Given the description of an element on the screen output the (x, y) to click on. 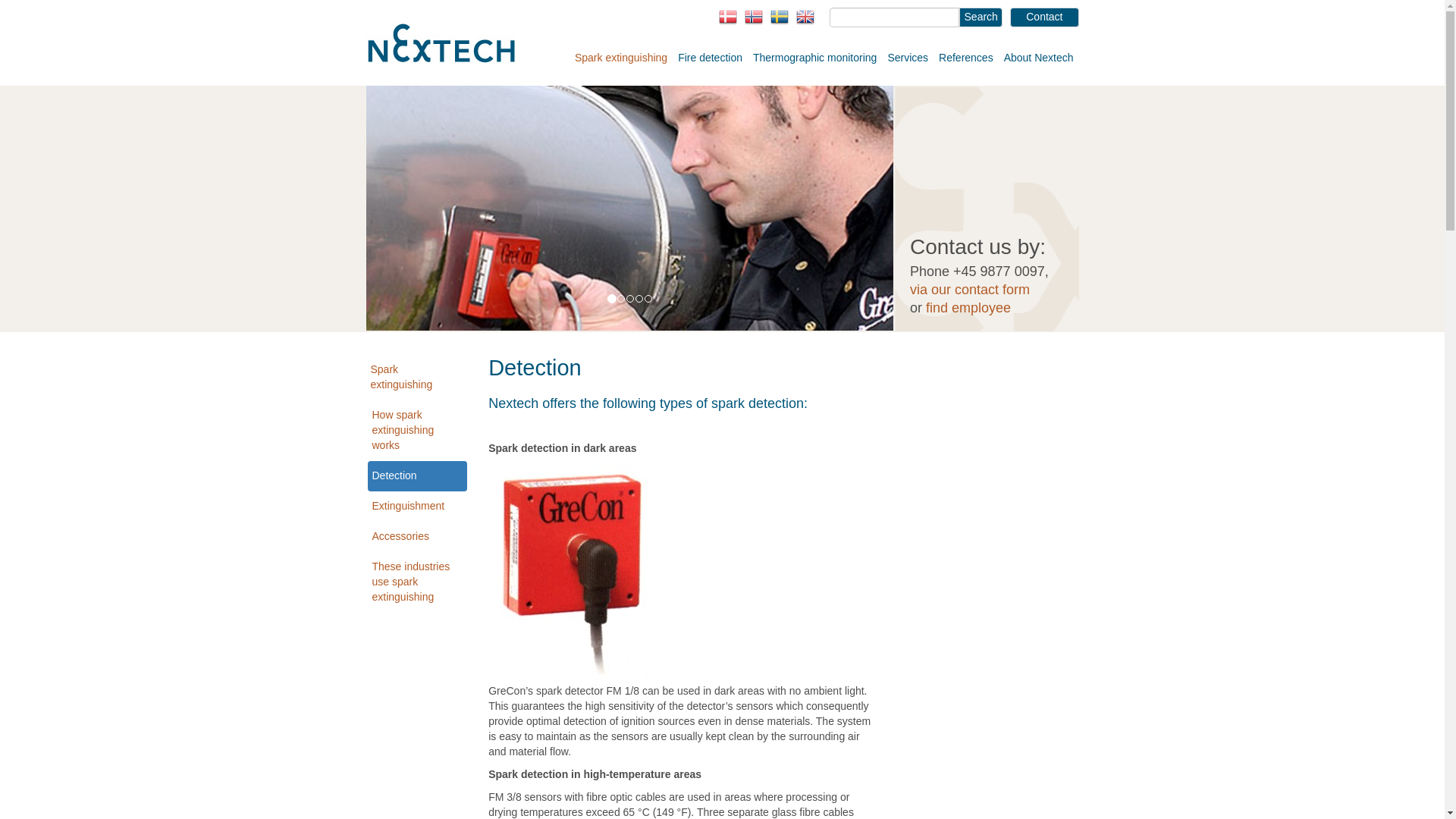
Services (907, 55)
Thermographic monitoring (815, 55)
References (965, 55)
References (965, 55)
Spark extinguishing (620, 55)
Spark extinguishing (620, 55)
Thermographic monitoring (815, 55)
Accessories (416, 536)
How spark extinguishing works (416, 430)
Fire detection (710, 55)
Spark extinguishing (415, 377)
Search (981, 17)
via our contact form (969, 289)
About Nextech (1038, 55)
Vi tilbyder (630, 207)
